Given the description of an element on the screen output the (x, y) to click on. 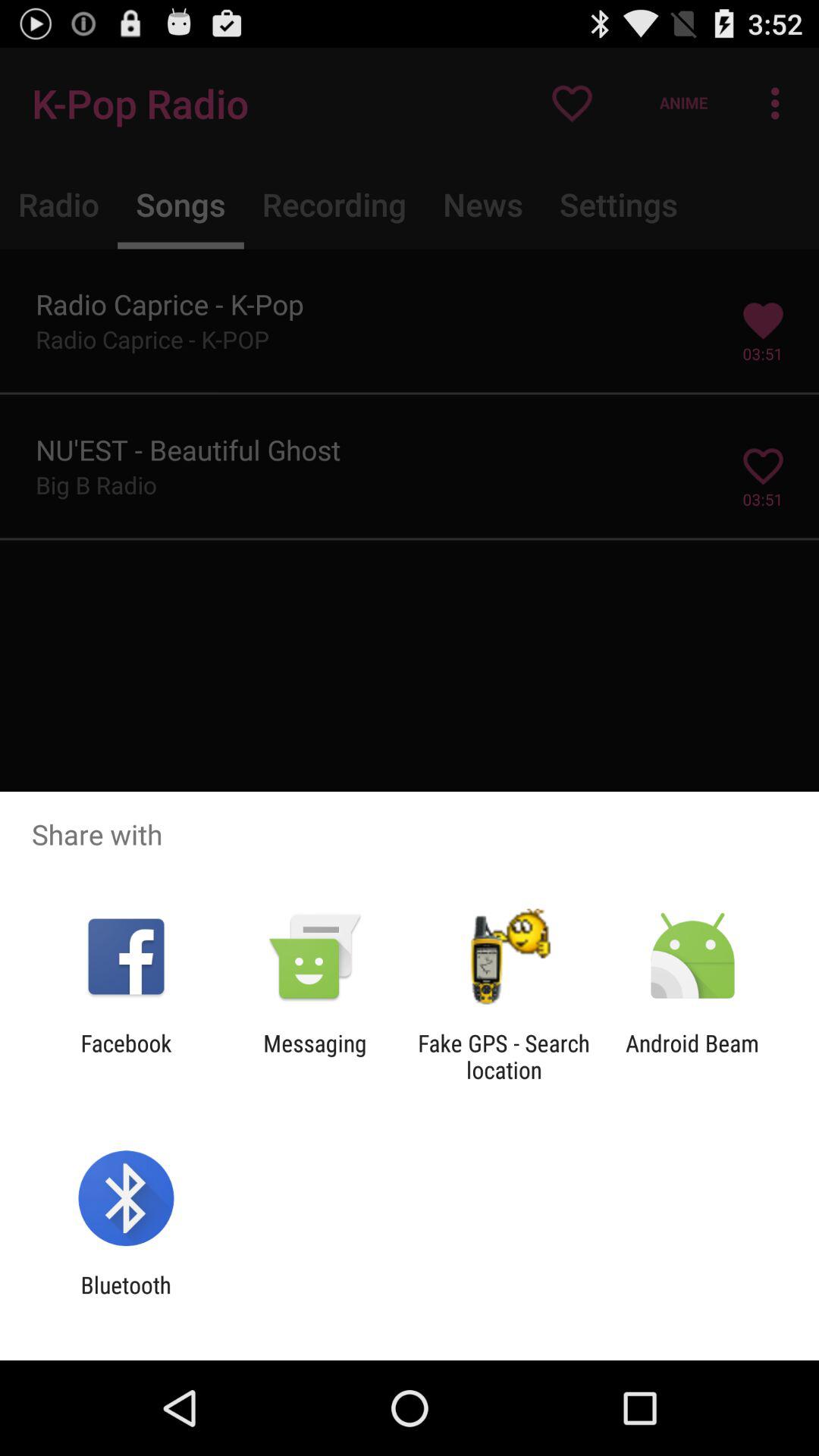
launch fake gps search icon (503, 1056)
